Given the description of an element on the screen output the (x, y) to click on. 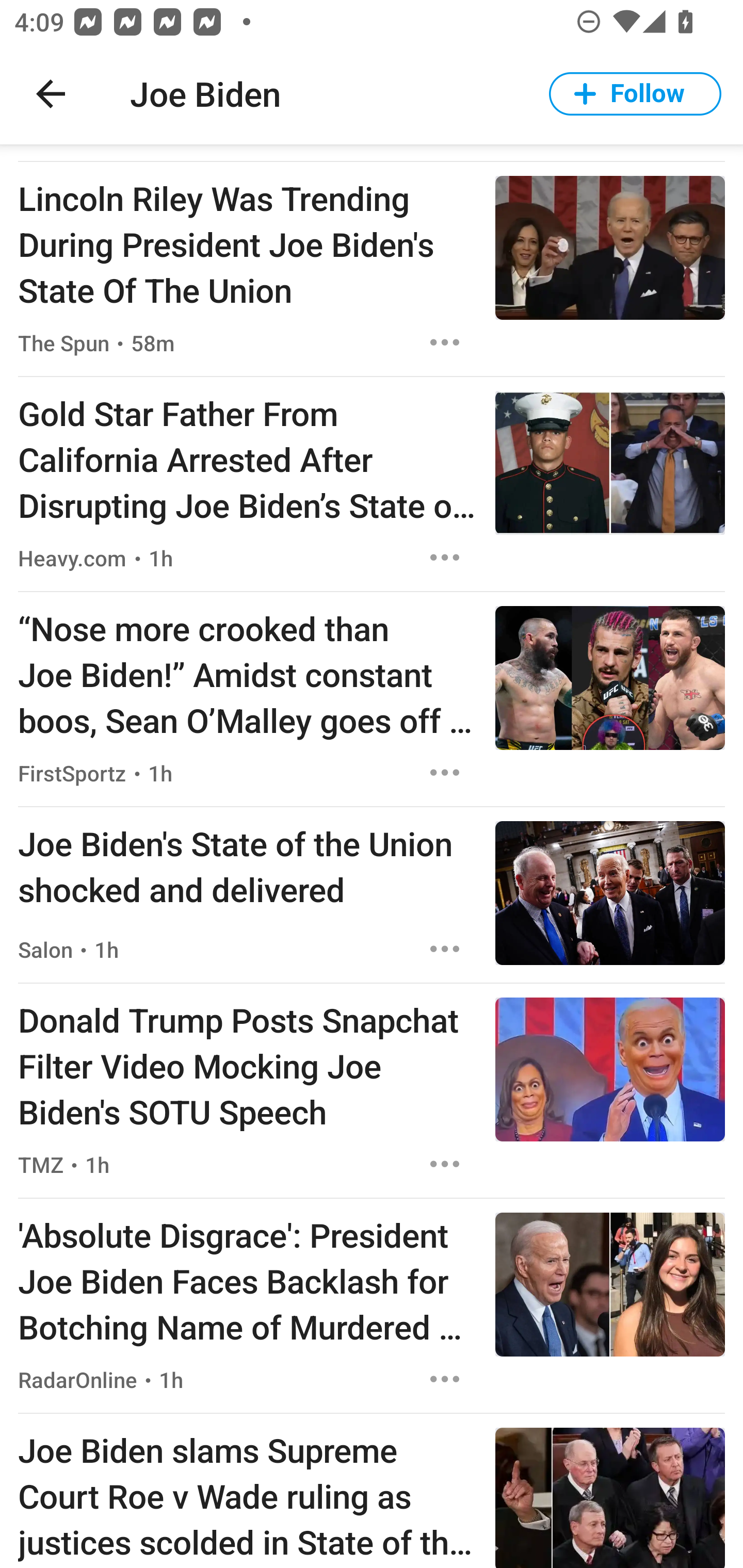
Navigate up (50, 93)
Follow (635, 94)
Options (444, 342)
Options (444, 557)
Options (444, 772)
Options (444, 948)
Options (444, 1164)
Options (444, 1378)
